Given the description of an element on the screen output the (x, y) to click on. 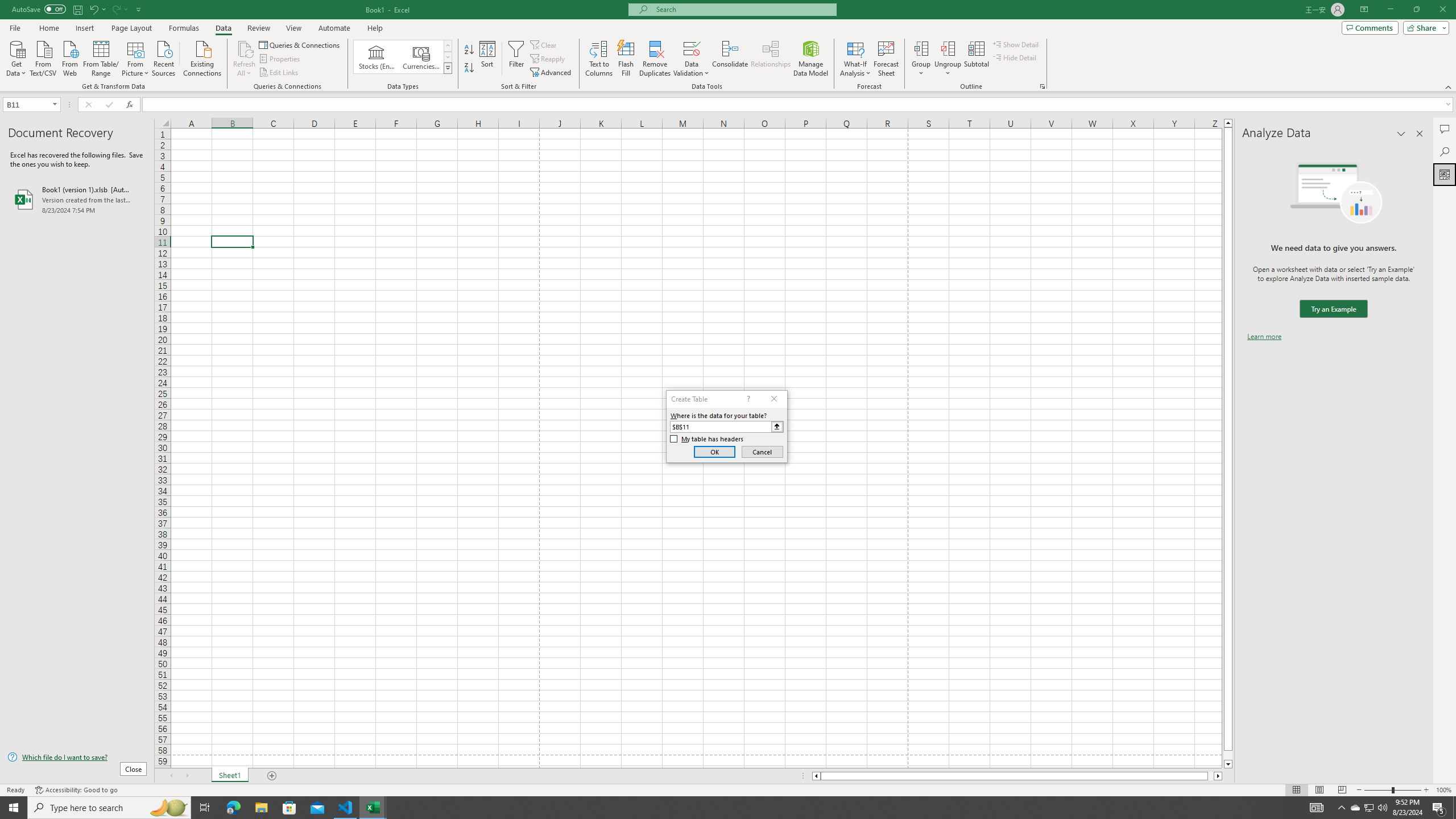
What-If Analysis (855, 58)
Advanced... (551, 72)
From Picture (135, 57)
